Given the description of an element on the screen output the (x, y) to click on. 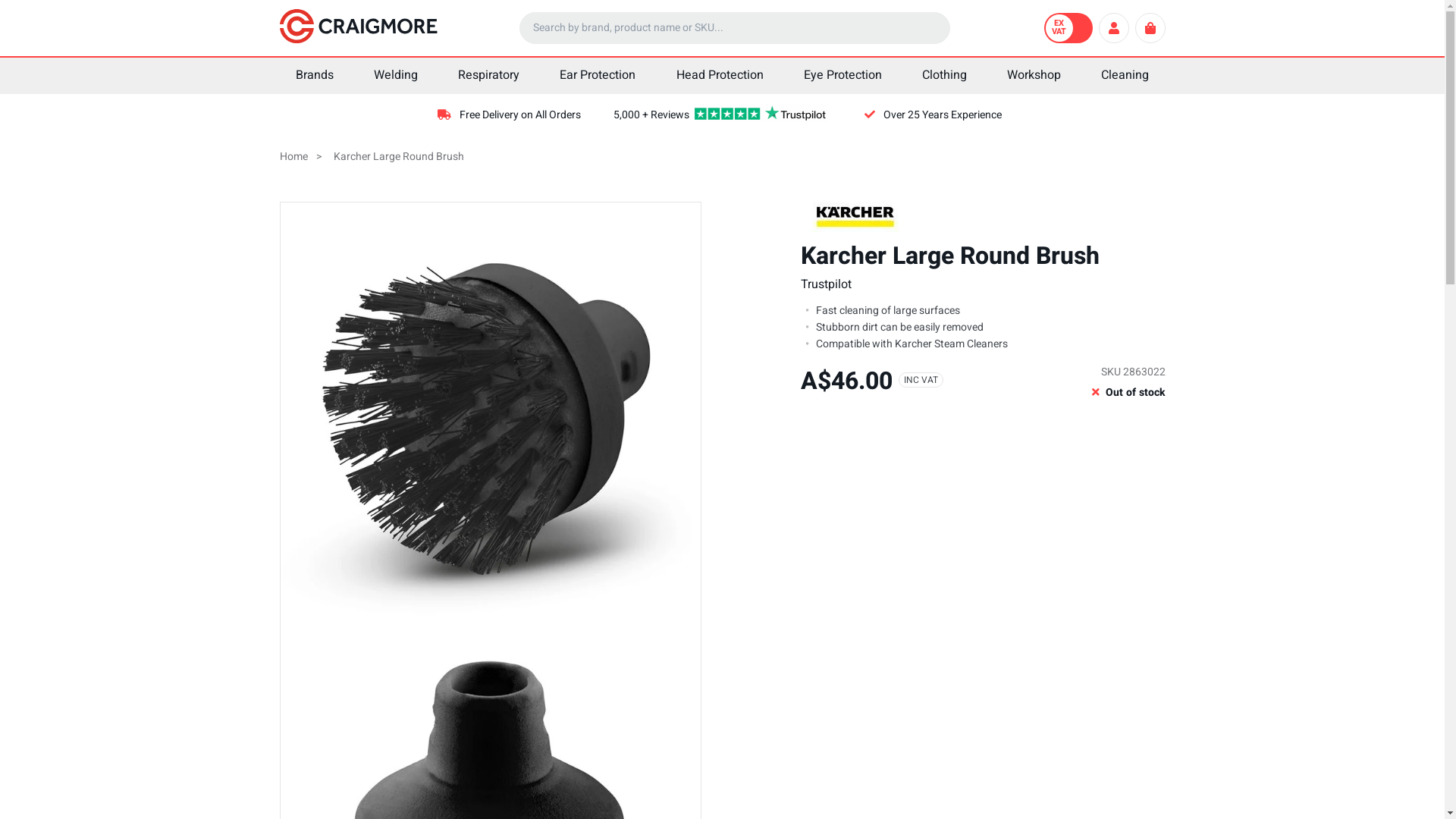
Workshop Element type: text (1034, 75)
Karcher Element type: hover (853, 216)
Head Protection Element type: text (719, 75)
My Account Element type: hover (1113, 27)
Home Element type: text (294, 156)
Cleaning Element type: text (1125, 75)
Karcher Element type: hover (853, 228)
Over 25 Years Experience Element type: text (932, 114)
Trustpilot Element type: text (825, 284)
Brands Element type: text (314, 75)
Search Element type: hover (934, 27)
Welding Element type: text (395, 75)
Ear Protection Element type: text (597, 75)
Free Delivery on All Orders Element type: text (508, 114)
Eye Protection Element type: text (842, 75)
Respiratory Element type: text (488, 75)
Clothing Element type: text (943, 75)
